Given the description of an element on the screen output the (x, y) to click on. 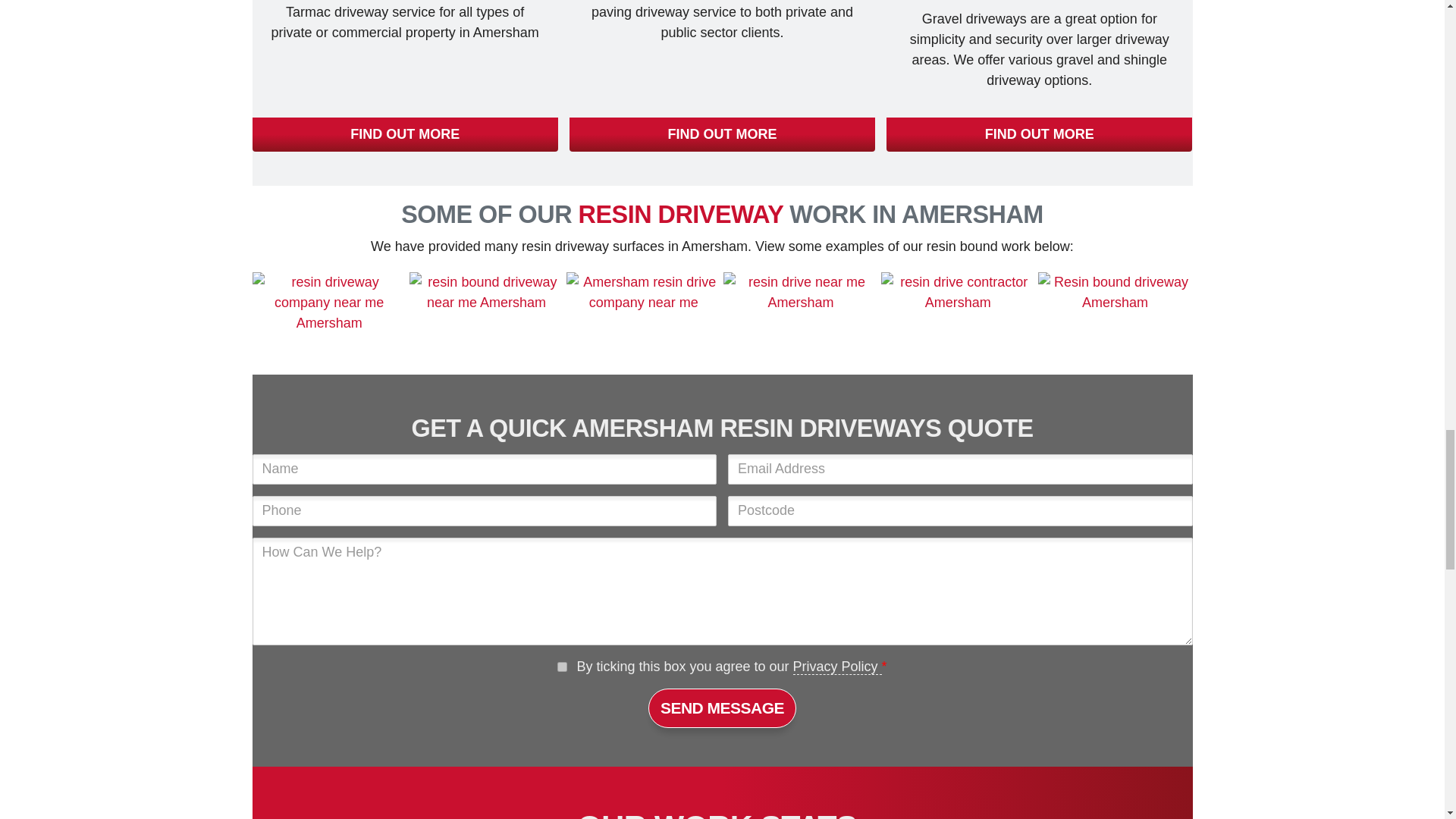
Privacy Policy (837, 666)
1 (562, 666)
FIND OUT MORE (722, 134)
FIND OUT MORE (1039, 134)
Send Message (721, 708)
FIND OUT MORE (404, 134)
Send Message (721, 708)
